Given the description of an element on the screen output the (x, y) to click on. 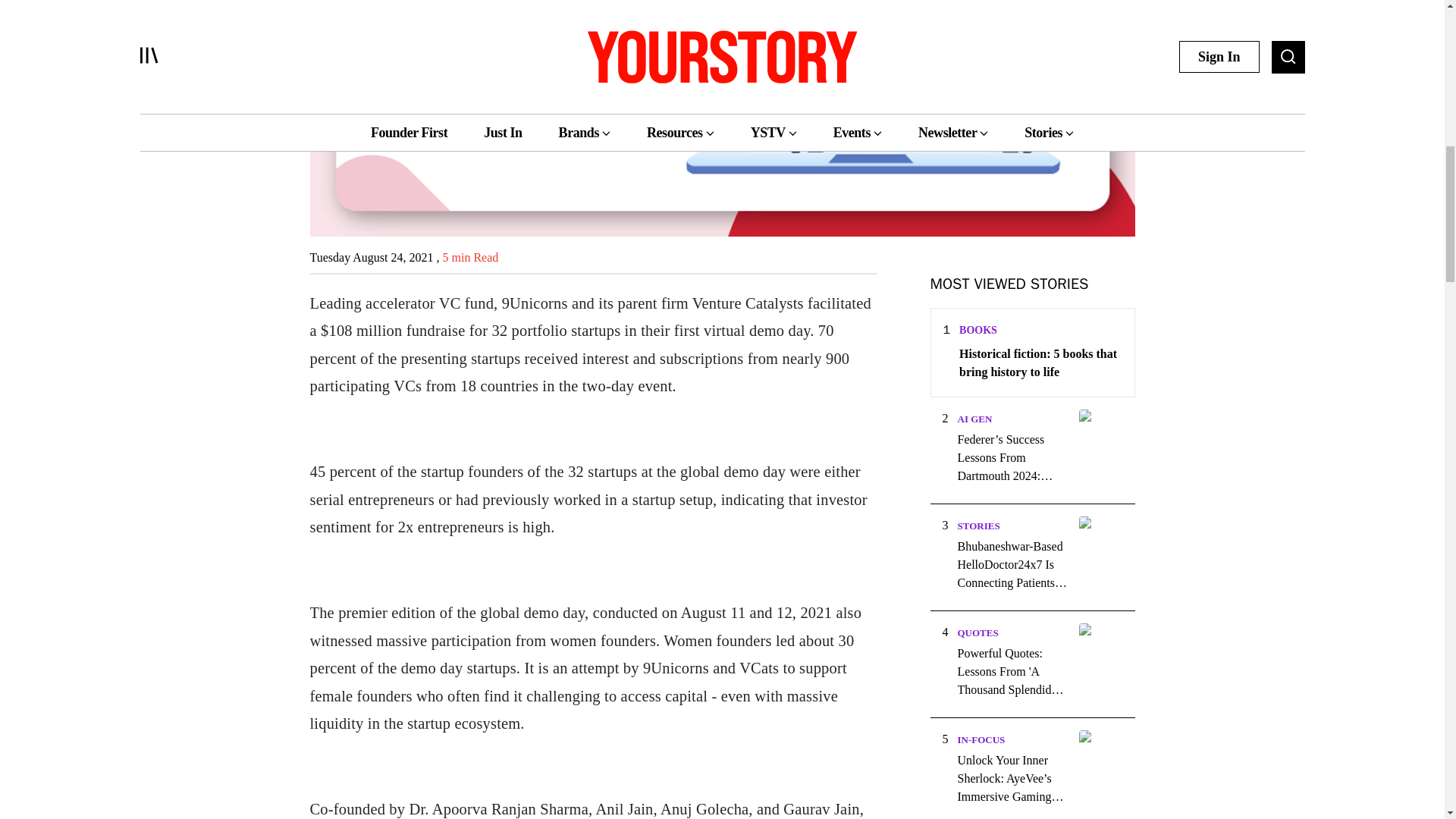
STORIES (977, 525)
BOOKS (978, 329)
Historical fiction: 5 books that bring history to life (1040, 362)
QUOTES (976, 632)
AI GEN (973, 419)
Powerful Quotes: Lessons From 'A Thousand Splendid Suns' (1012, 671)
IN-FOCUS (980, 739)
